Given the description of an element on the screen output the (x, y) to click on. 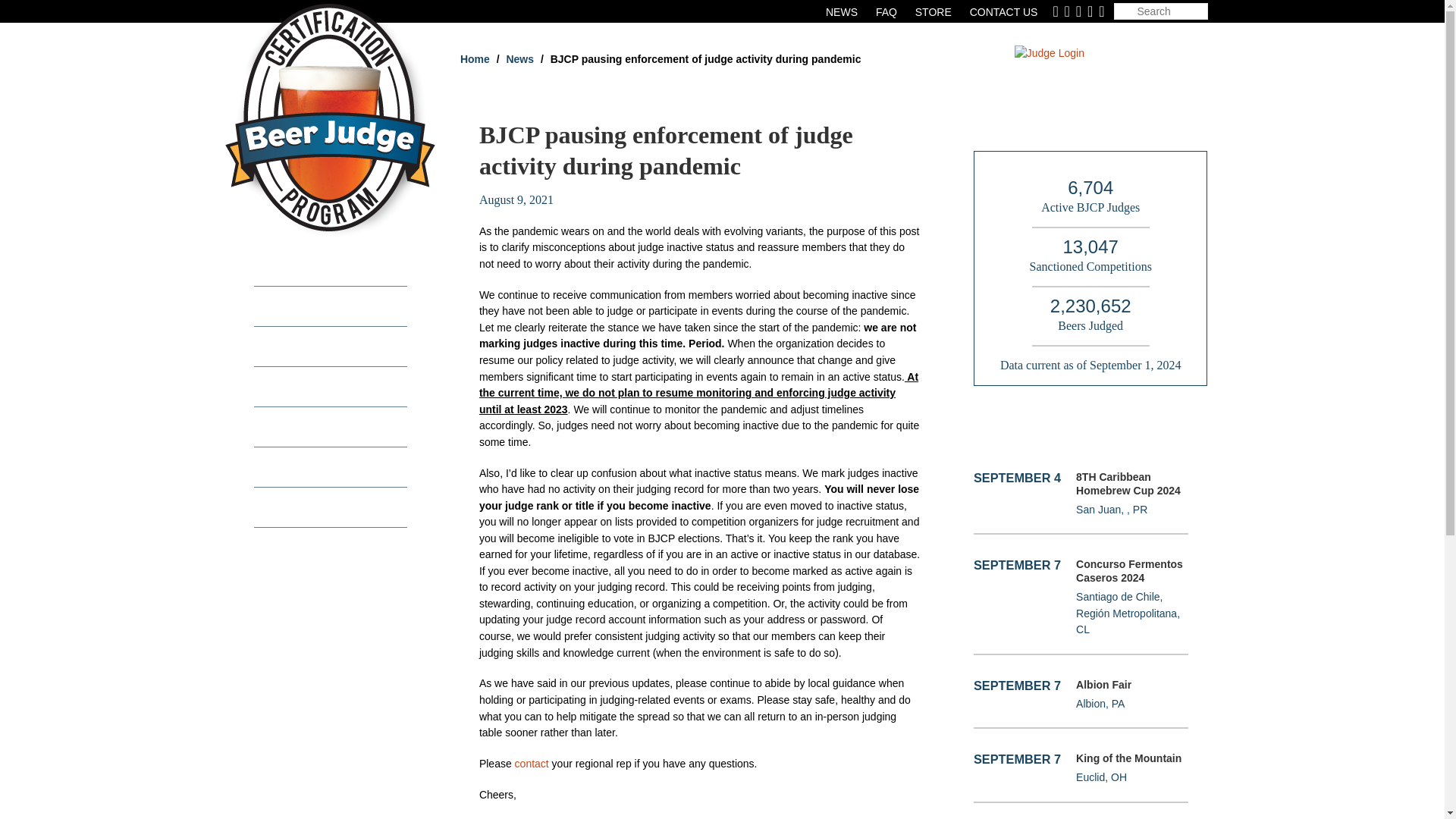
FAQ (886, 11)
Frequently Asked Questions (886, 11)
BJCP Style Guidelines (329, 266)
STORE (933, 11)
NEWS (841, 11)
Go to Beer Judge Certification Program. (474, 59)
Go to the News category archives. (519, 59)
CONTACT US (1003, 11)
